Given the description of an element on the screen output the (x, y) to click on. 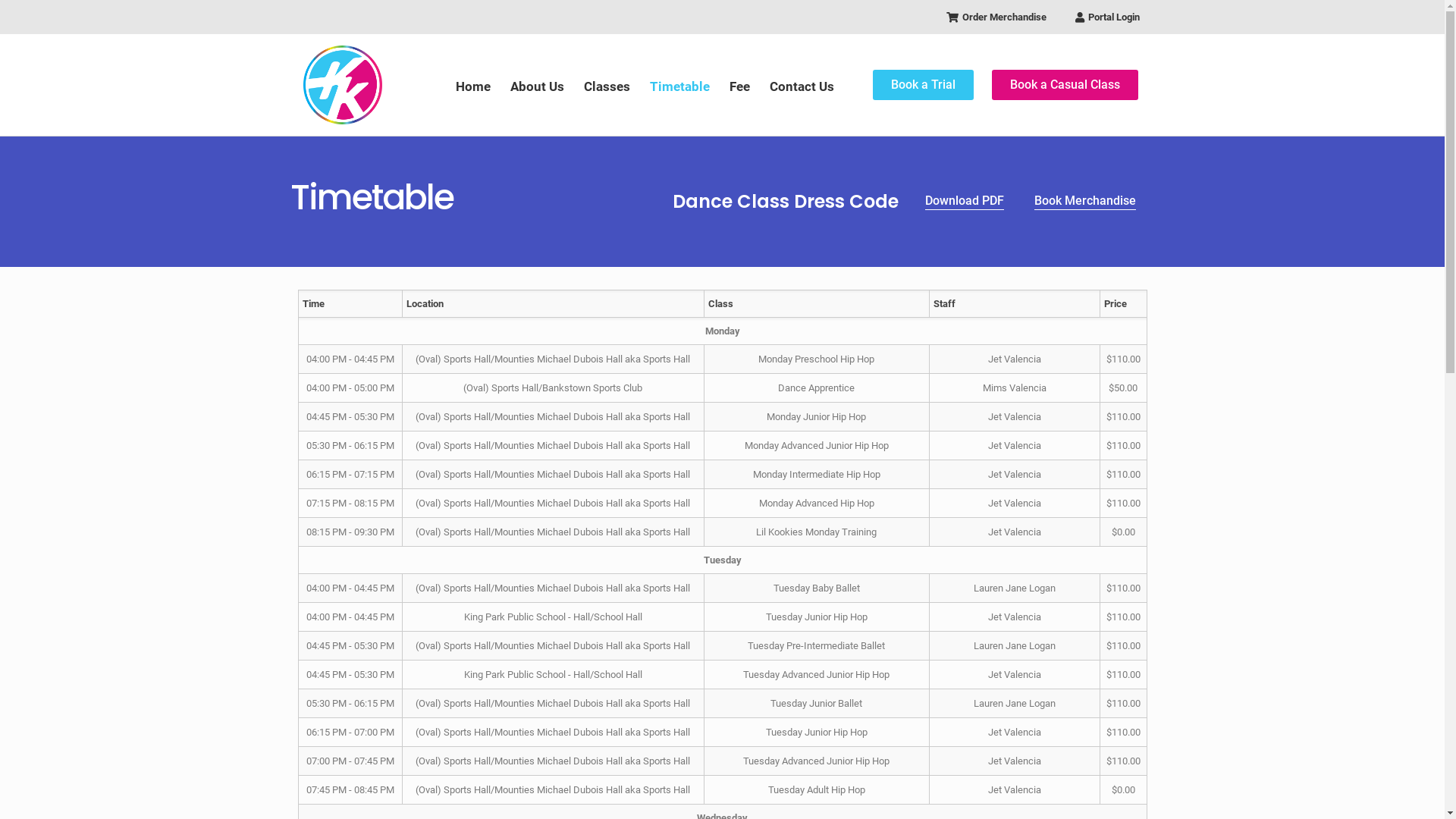
Book Merchandise Element type: text (1084, 202)
Timetable Element type: text (679, 86)
Order Merchandise Element type: text (976, 16)
Book a Trial Element type: text (922, 84)
Download PDF Element type: text (964, 202)
Home Element type: text (472, 86)
Fee Element type: text (739, 86)
Contact Us Element type: text (801, 86)
Book a Casual Class Element type: text (1064, 84)
Portal Login Element type: text (1100, 16)
About Us Element type: text (537, 86)
Classes Element type: text (607, 86)
